Given the description of an element on the screen output the (x, y) to click on. 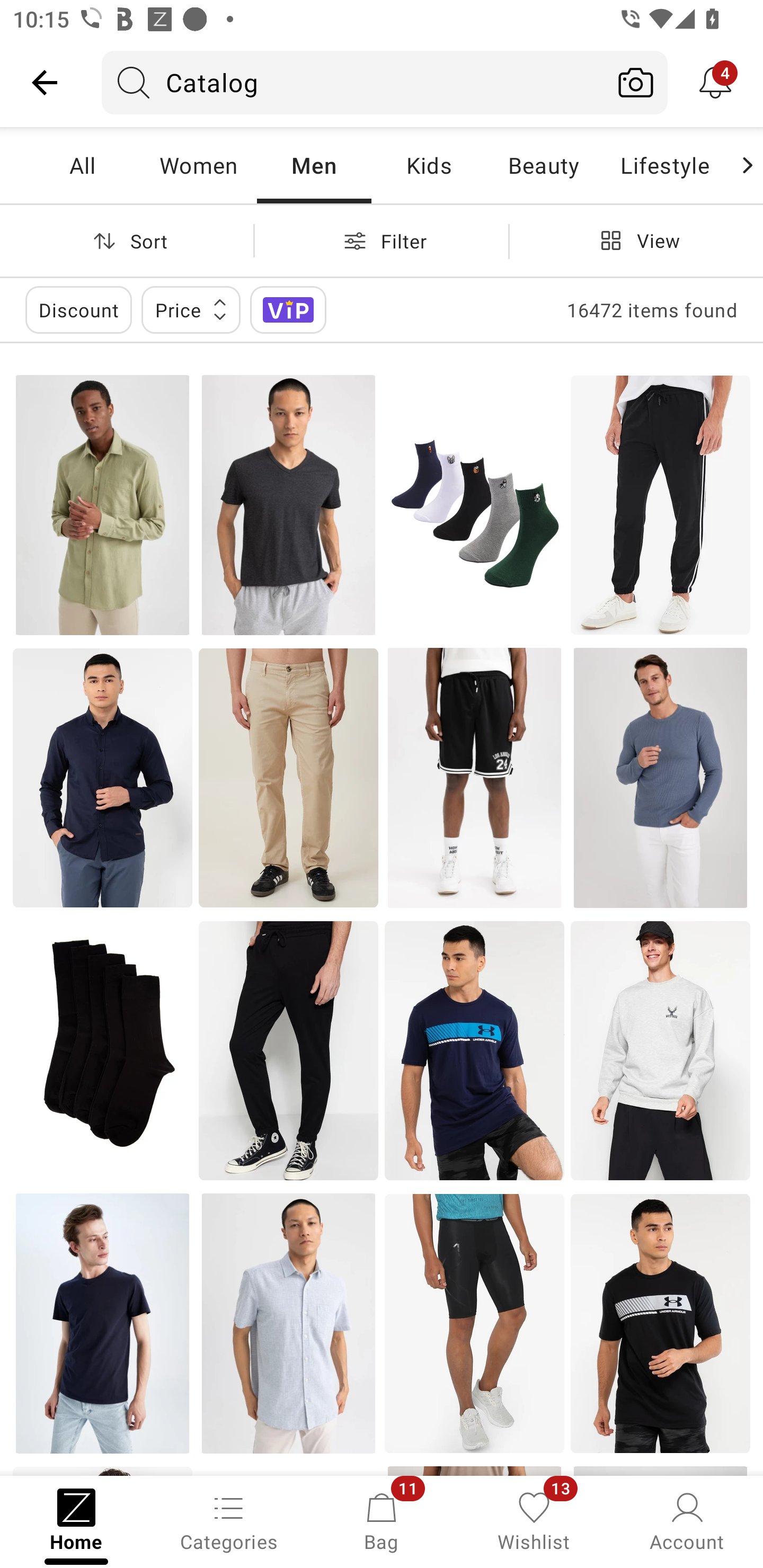
Navigate up (44, 82)
Catalog (352, 82)
All (82, 165)
Women (198, 165)
Kids (428, 165)
Beauty (543, 165)
Lifestyle (664, 165)
Sort (126, 240)
Filter (381, 240)
View (636, 240)
Discount (78, 309)
Price (190, 309)
Categories (228, 1519)
Bag, 11 new notifications Bag (381, 1519)
Wishlist, 13 new notifications Wishlist (533, 1519)
Account (686, 1519)
